Given the description of an element on the screen output the (x, y) to click on. 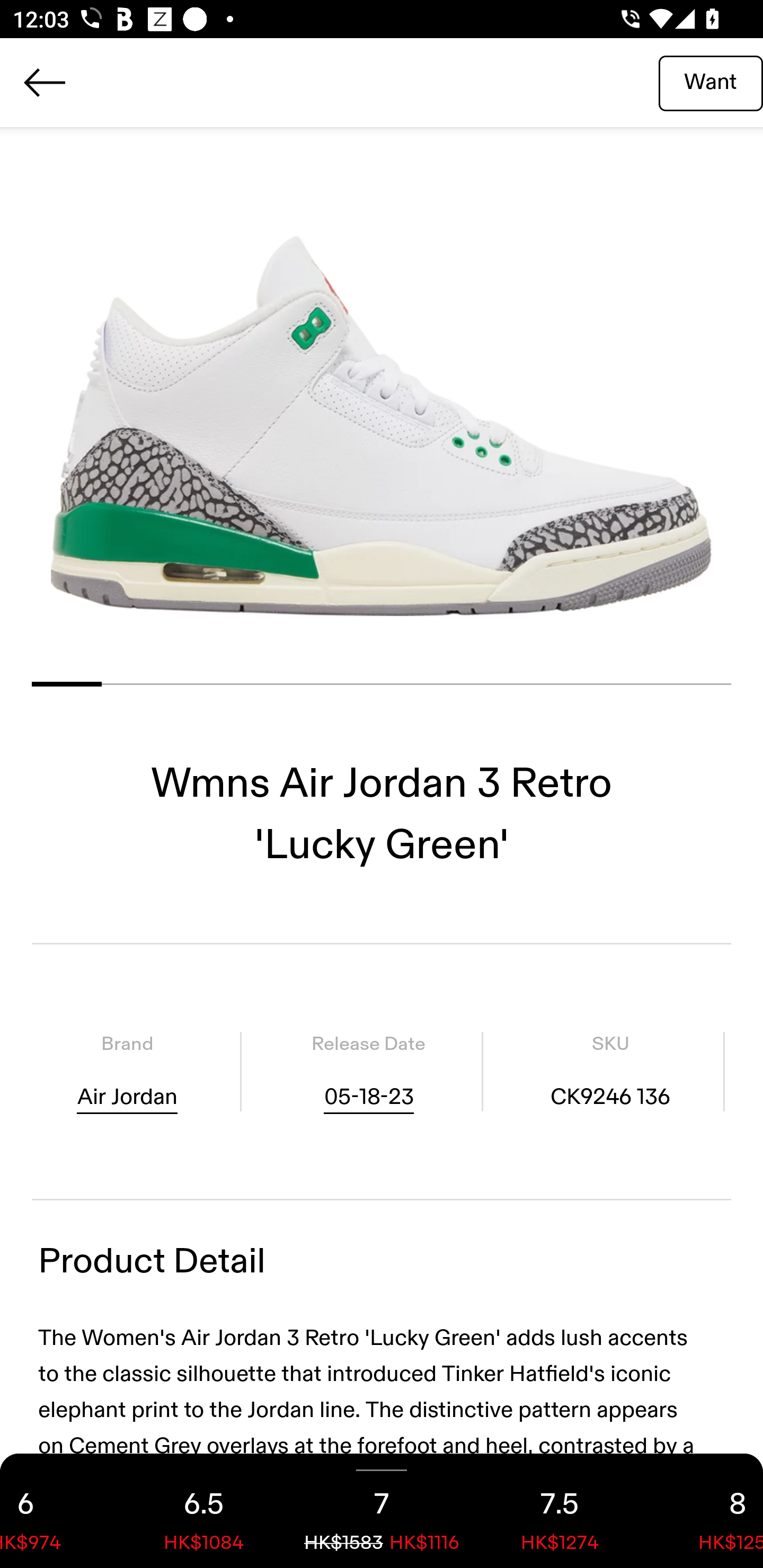
Want (710, 82)
Brand Air Jordan (126, 1070)
Release Date 05-18-23 (368, 1070)
SKU CK9246 136 (609, 1070)
6 HK$974 (57, 1510)
6.5 HK$1084 (203, 1510)
7 HK$1583 HK$1116 (381, 1510)
7.5 HK$1274 (559, 1510)
8 HK$1250 (705, 1510)
